Given the description of an element on the screen output the (x, y) to click on. 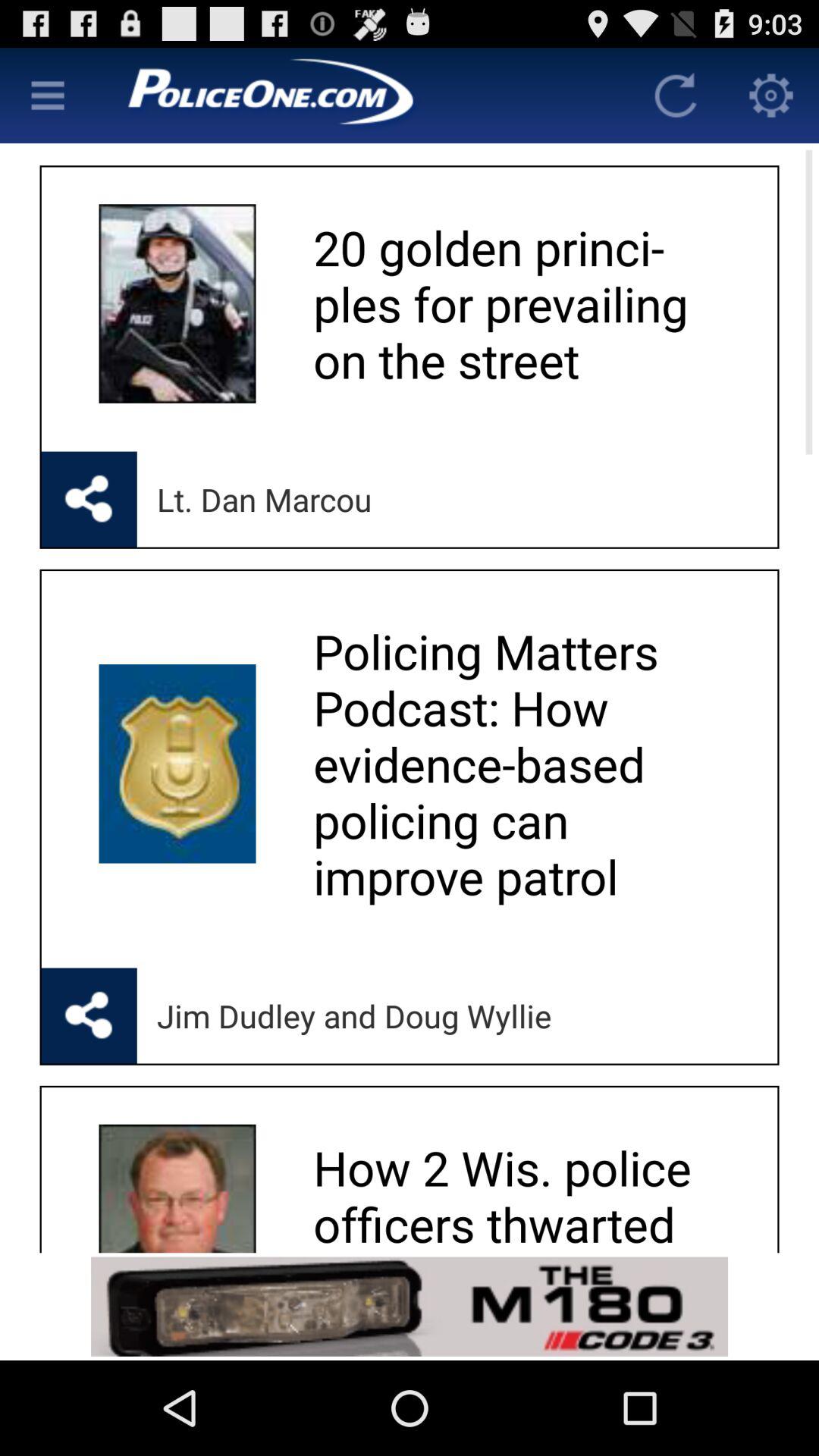
advertisement (361, 95)
